Given the description of an element on the screen output the (x, y) to click on. 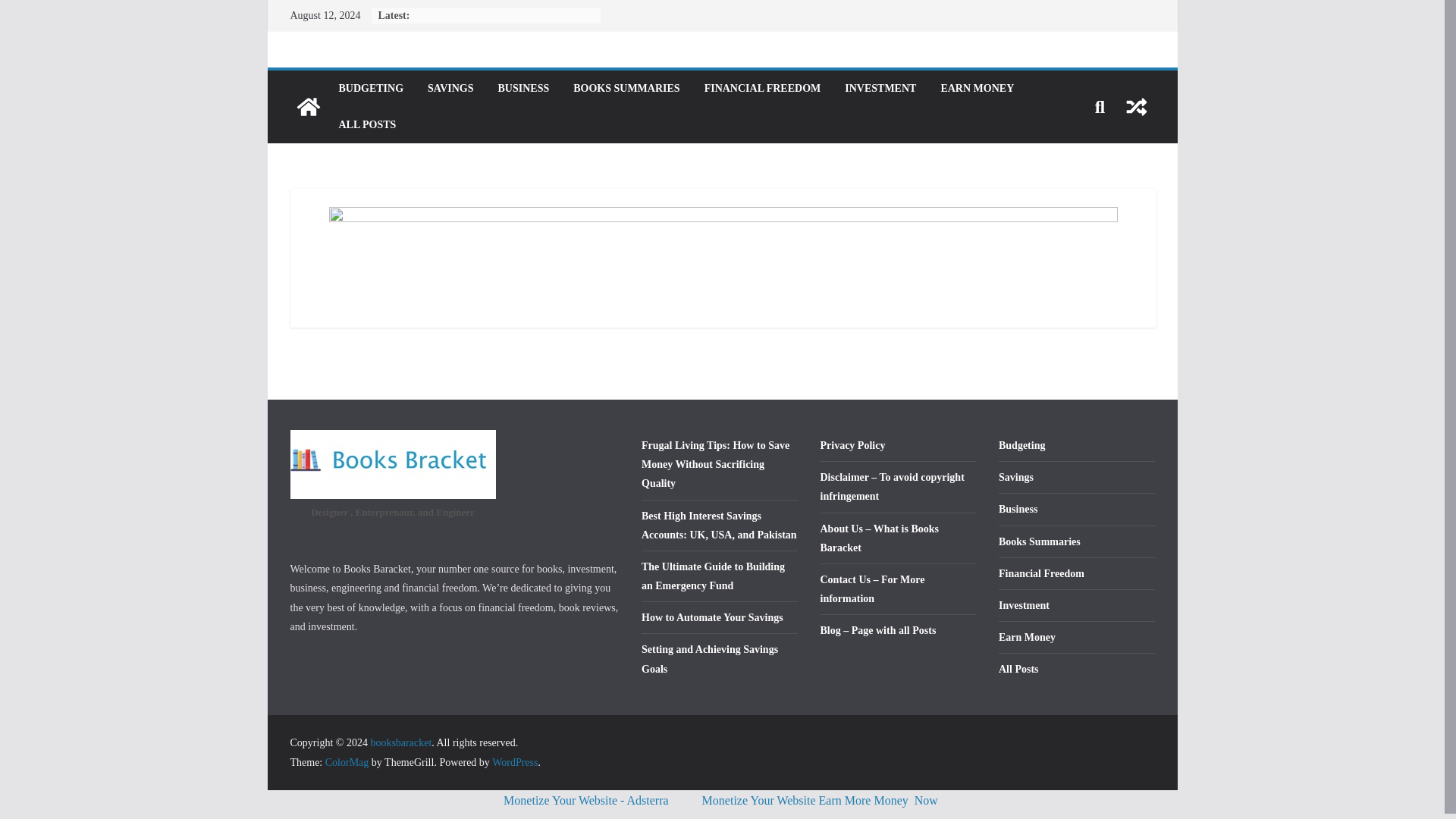
Setting and Achieving Savings Goals (709, 658)
Best High Interest Savings Accounts: UK, USA, and Pakistan (719, 524)
WordPress (514, 762)
EARN MONEY (976, 88)
Earn Money (1026, 636)
The Ultimate Guide to Building an Emergency Fund (713, 576)
View a random post (1136, 106)
How to Automate Your Savings (712, 617)
Books Summaries (1039, 541)
